Given the description of an element on the screen output the (x, y) to click on. 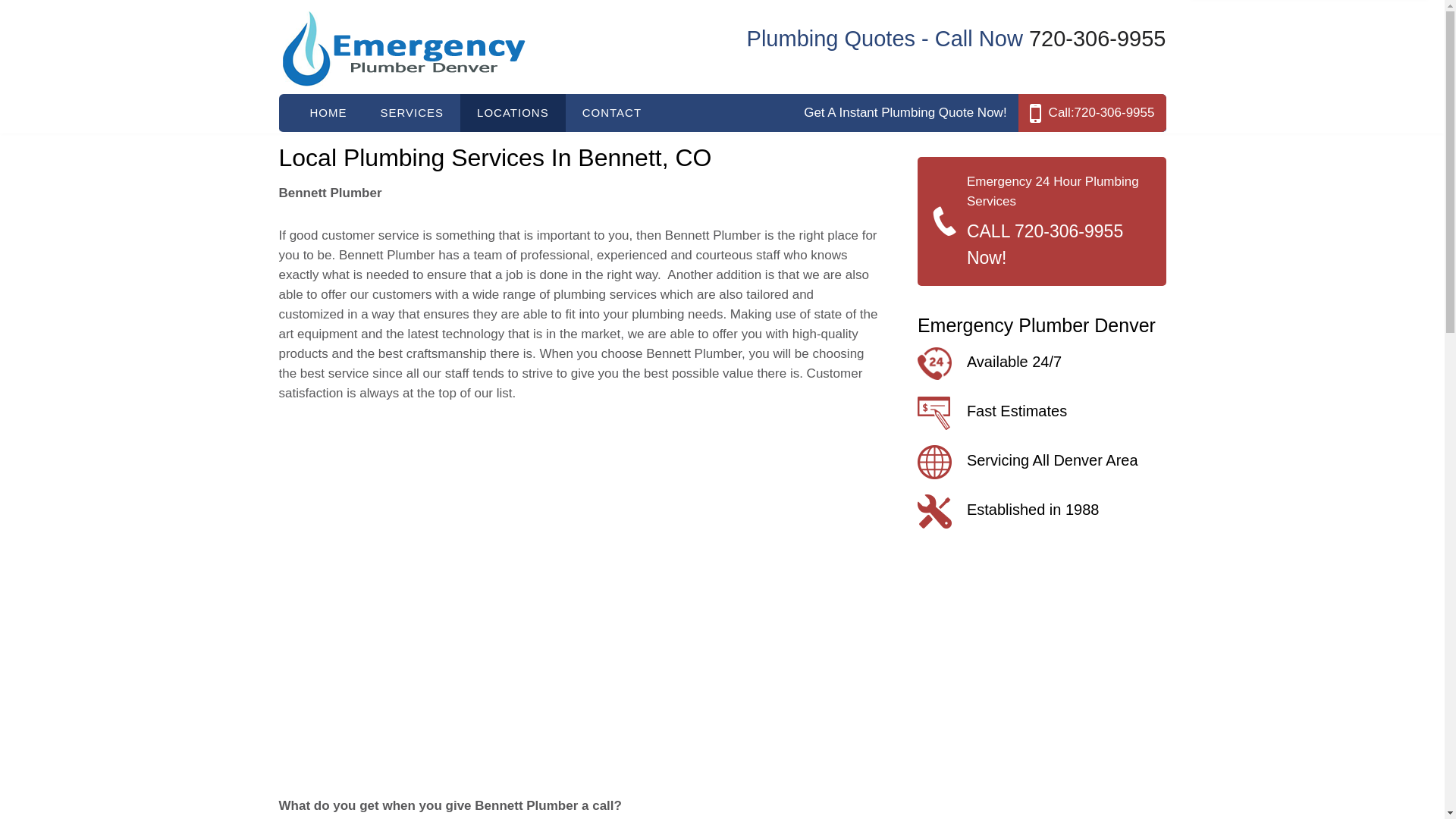
CONTACT (612, 112)
LOCATIONS (513, 112)
HOME (327, 112)
SERVICES (412, 112)
